Given the description of an element on the screen output the (x, y) to click on. 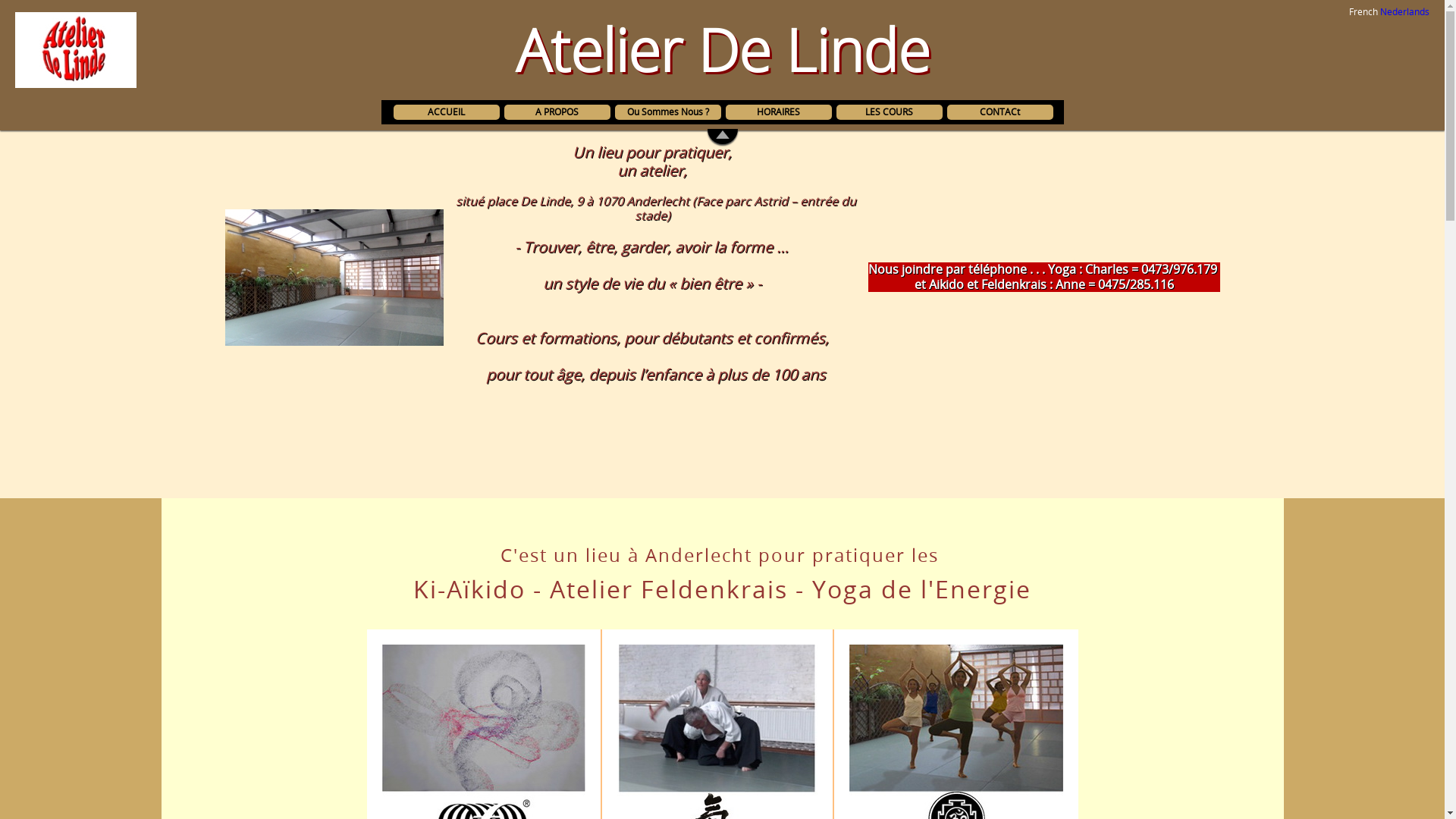
CONTACt Element type: text (999, 111)
CONTACt Element type: text (999, 111)
Ou Sommes Nous ? Element type: text (667, 111)
Ou Sommes Nous ? Element type: text (667, 111)
LES COURS Element type: text (888, 111)
Nederlands Element type: text (1404, 11)
ACCUEIL Element type: text (445, 111)
ACCUEIL Element type: text (445, 111)
HORAIRES Element type: text (777, 111)
LES COURS Element type: text (888, 111)
A PROPOS Element type: text (556, 111)
A PROPOS Element type: text (556, 111)
HORAIRES Element type: text (777, 111)
   Element type: text (3, 504)
